Given the description of an element on the screen output the (x, y) to click on. 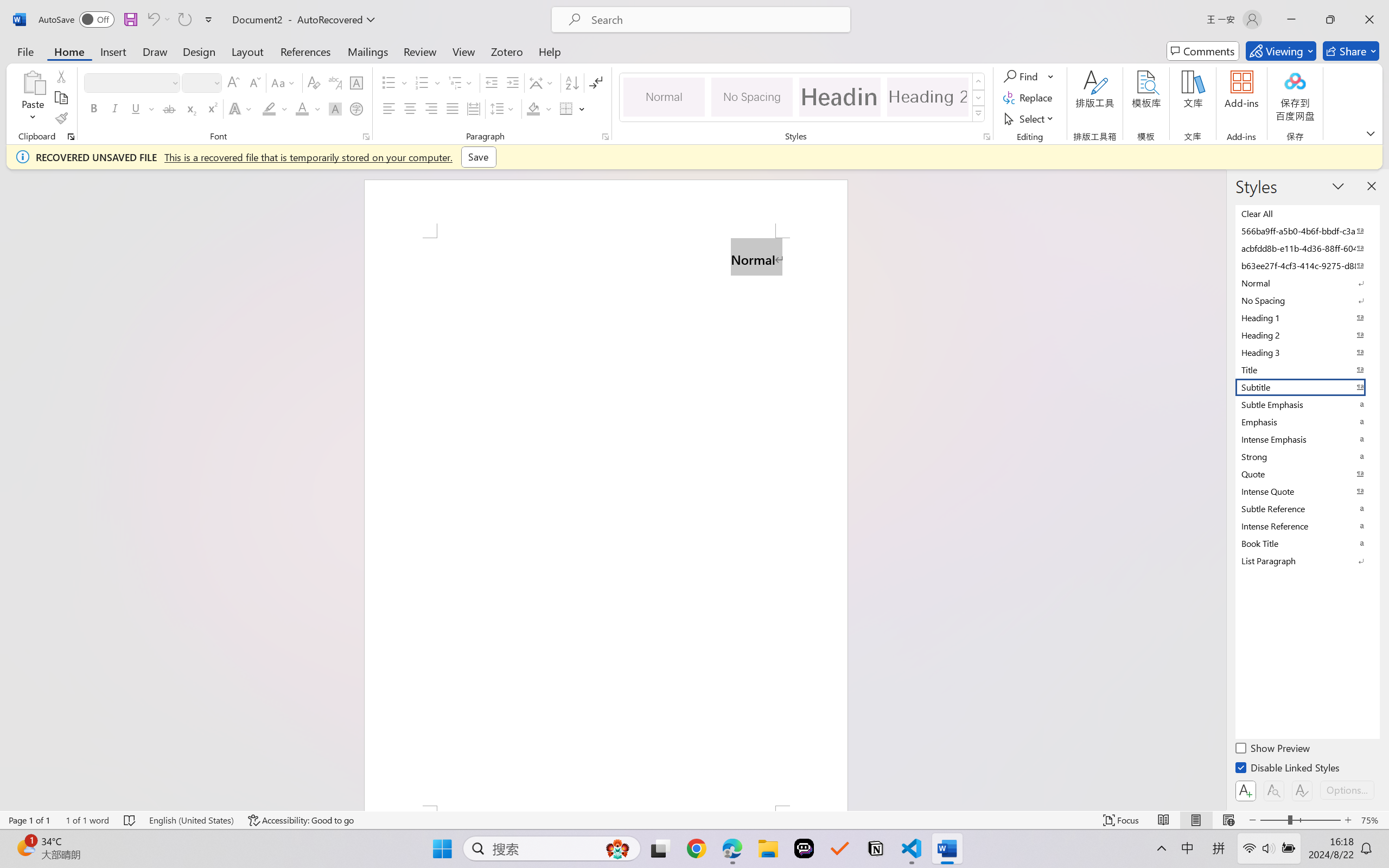
Shading (539, 108)
Subtle Reference (1306, 508)
Grow Font (233, 82)
Heading 1 (839, 96)
Can't Undo (152, 19)
Page 1 content (605, 521)
Increase Indent (512, 82)
Row up (978, 81)
Styles... (986, 136)
